Given the description of an element on the screen output the (x, y) to click on. 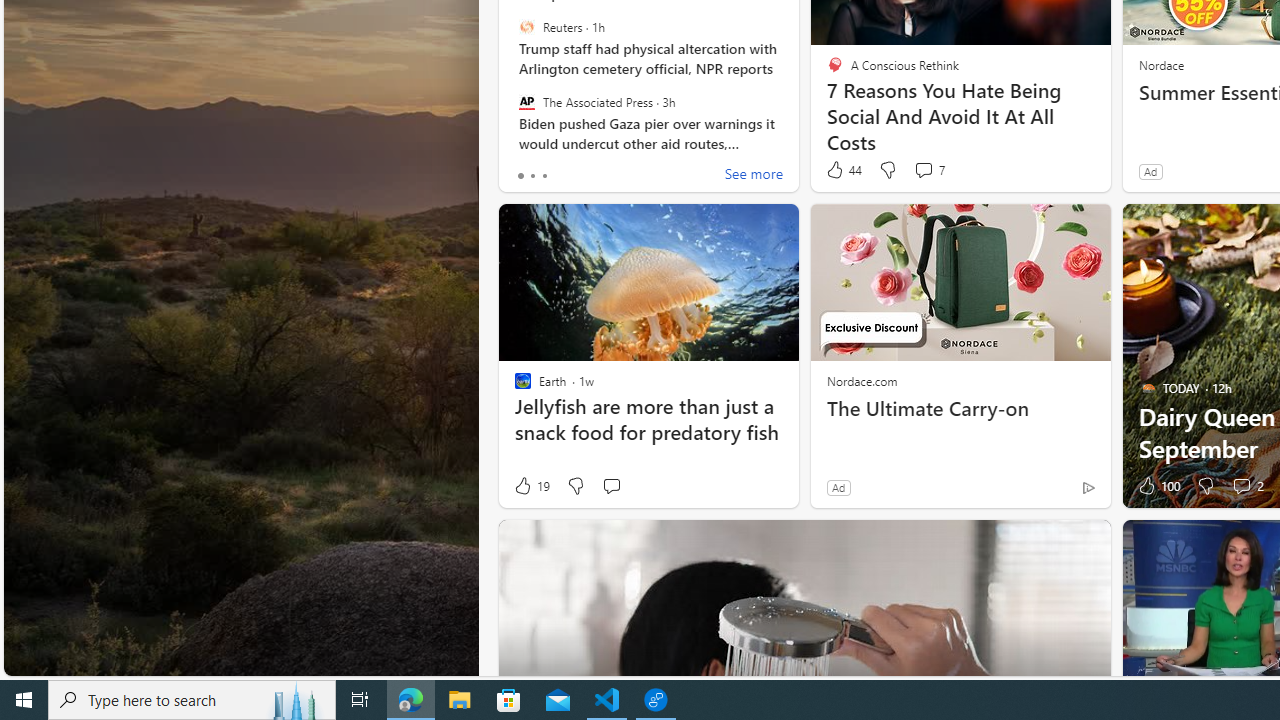
The Associated Press (526, 101)
View comments 2 Comment (1241, 485)
View comments 2 Comment (1247, 485)
Nordace.com (861, 380)
See more (753, 175)
Start the conversation (611, 485)
100 Like (1157, 485)
Ad Choice (1087, 487)
